Given the description of an element on the screen output the (x, y) to click on. 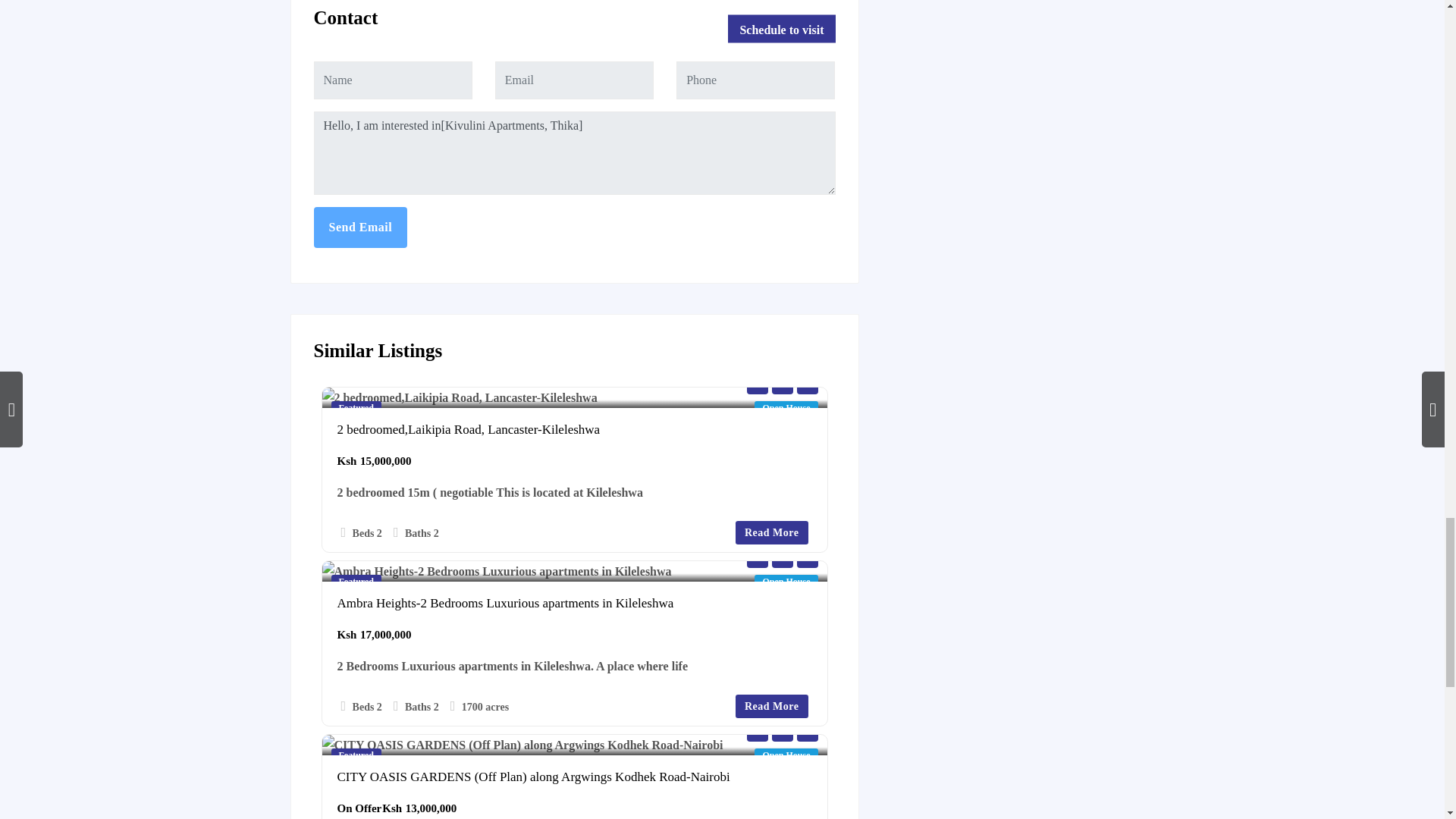
Send Email (360, 227)
Schedule to visit (781, 29)
Kileleshwa (357, 385)
Kileleshwa (357, 385)
Nairobi (398, 385)
